Given the description of an element on the screen output the (x, y) to click on. 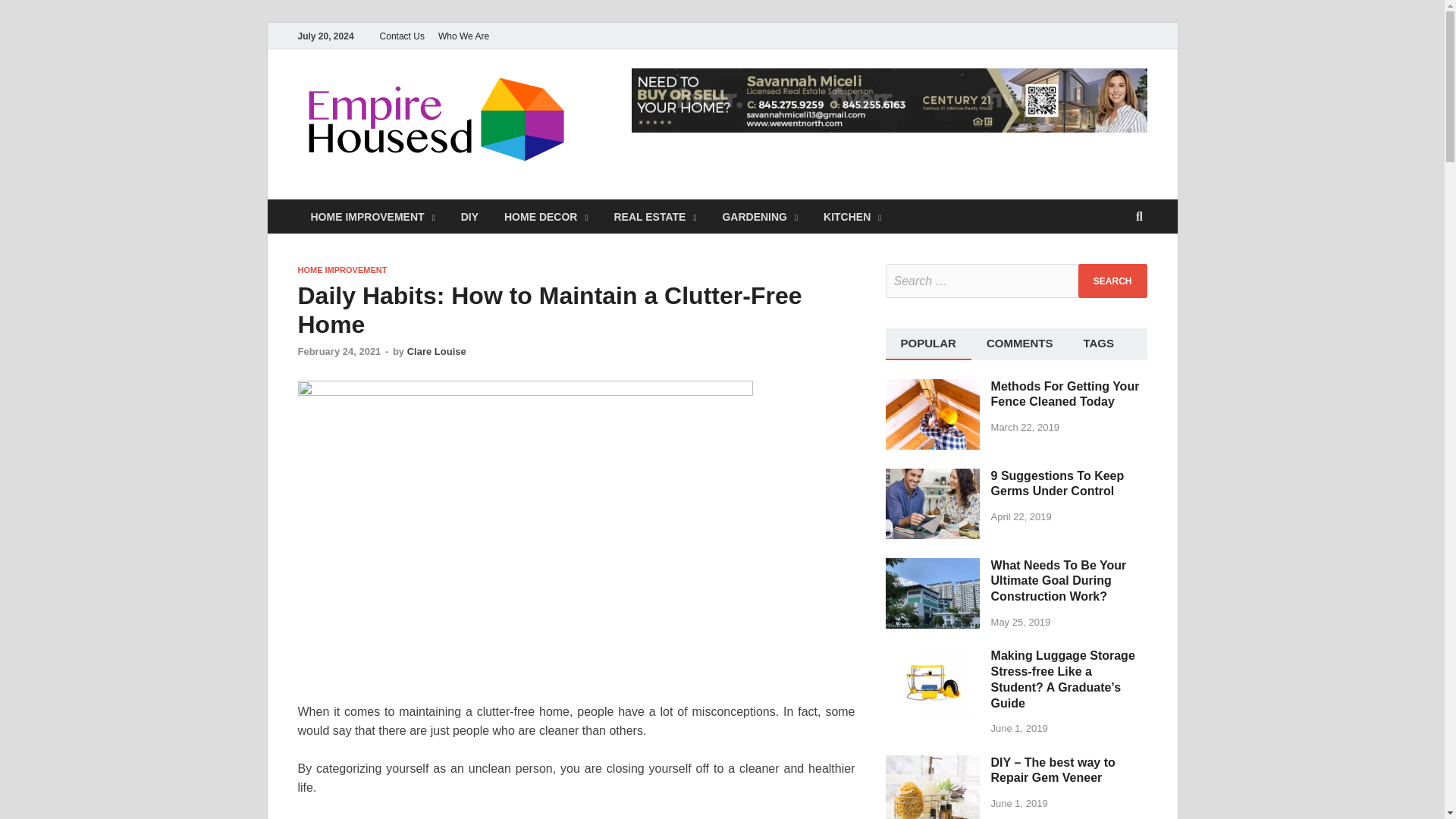
GARDENING (759, 216)
Search (1112, 280)
HOME DECOR (545, 216)
DIY (470, 216)
HOME IMPROVEMENT (371, 216)
Contact Us (401, 35)
Who We Are (463, 35)
Empire House SD (697, 100)
Search (1112, 280)
Methods For Getting Your Fence Cleaned Today (932, 386)
9 Suggestions To Keep Germs Under Control (932, 476)
REAL ESTATE (654, 216)
KITCHEN (851, 216)
